Given the description of an element on the screen output the (x, y) to click on. 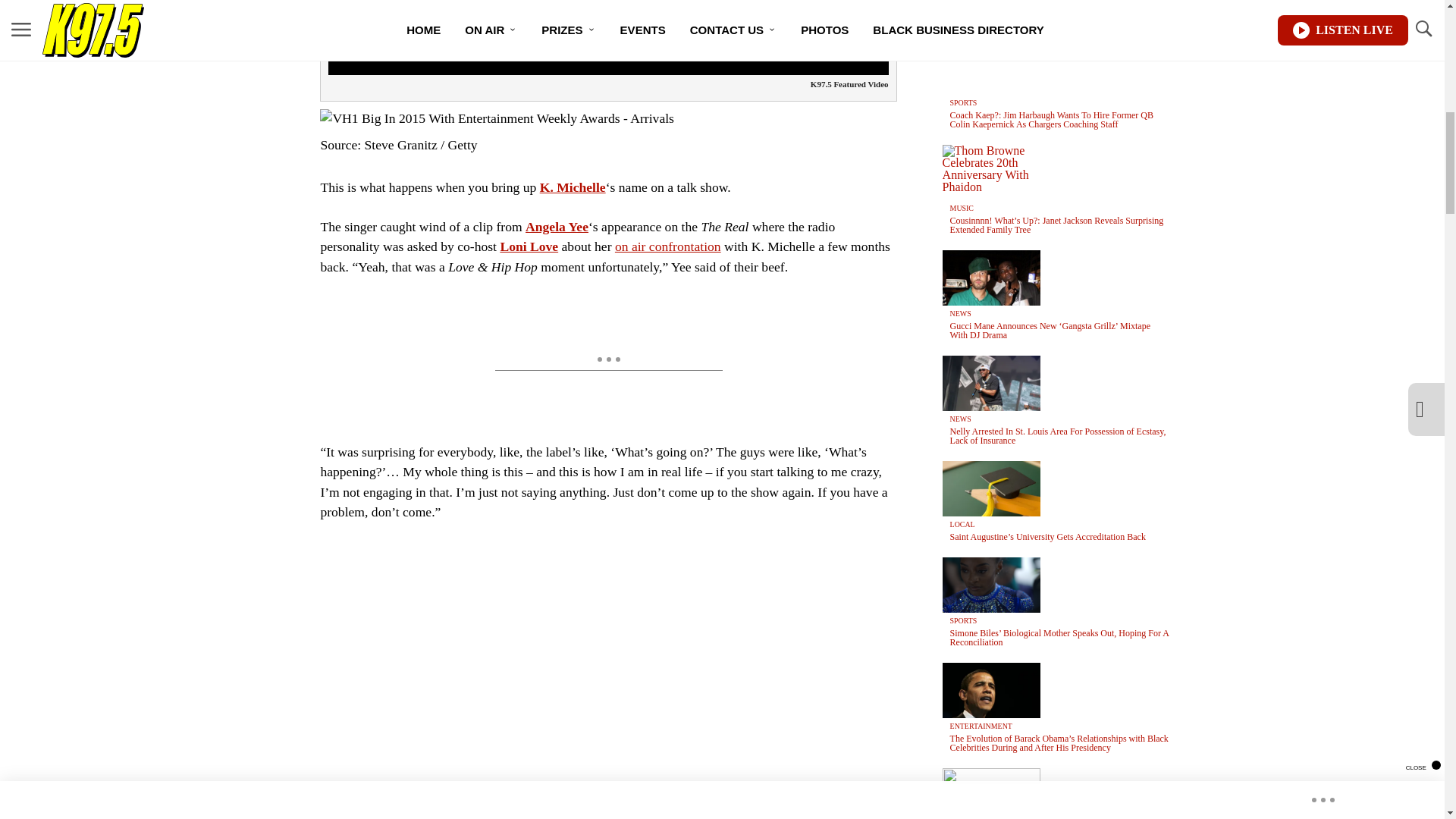
Loni Love (528, 246)
Angela Yee (556, 226)
on air confrontation (667, 246)
Embedded video (607, 677)
K. Michelle (572, 186)
